Given the description of an element on the screen output the (x, y) to click on. 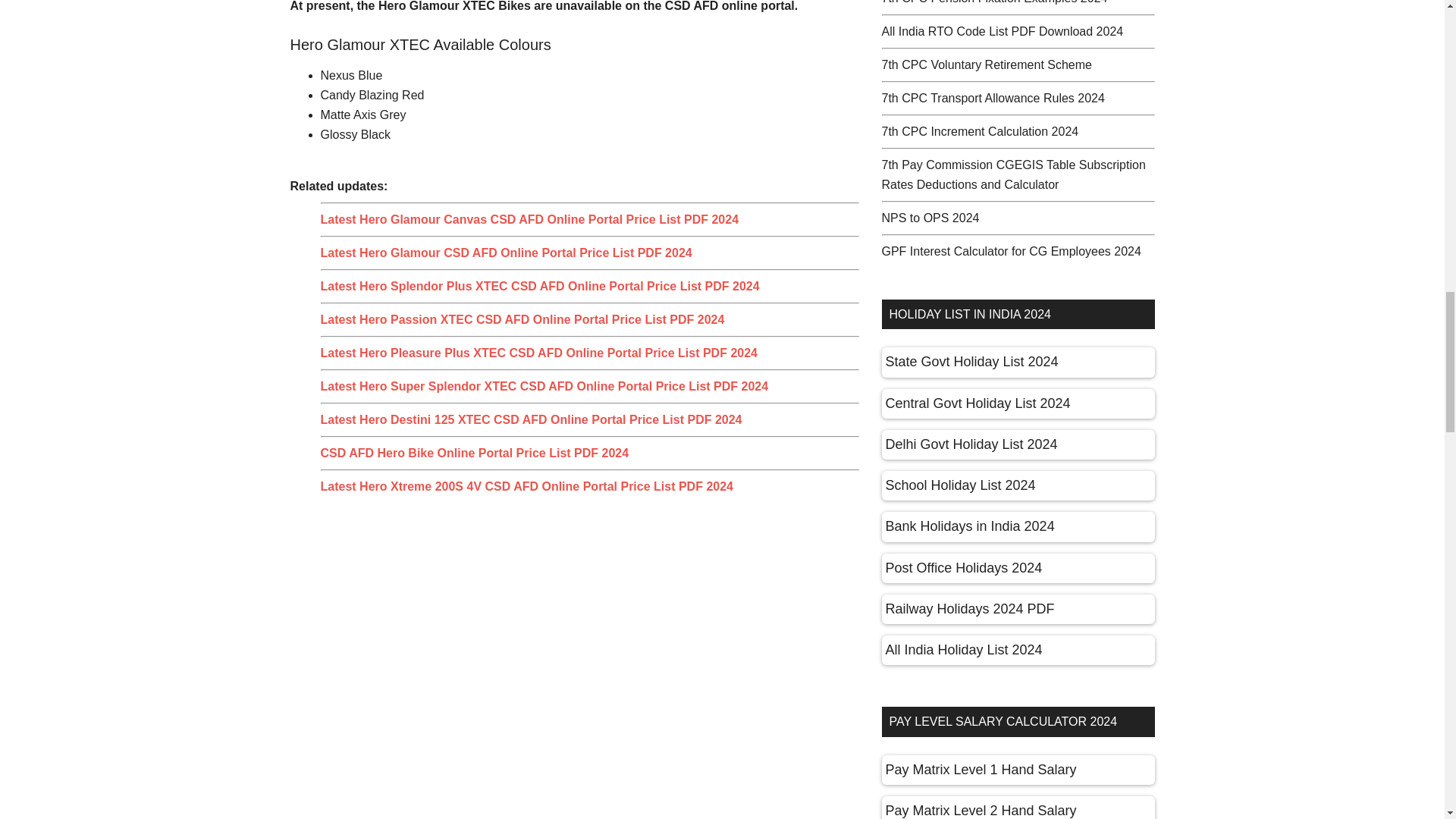
CSD AFD Hero Bike Online Portal Price List PDF 2024 (474, 452)
